Given the description of an element on the screen output the (x, y) to click on. 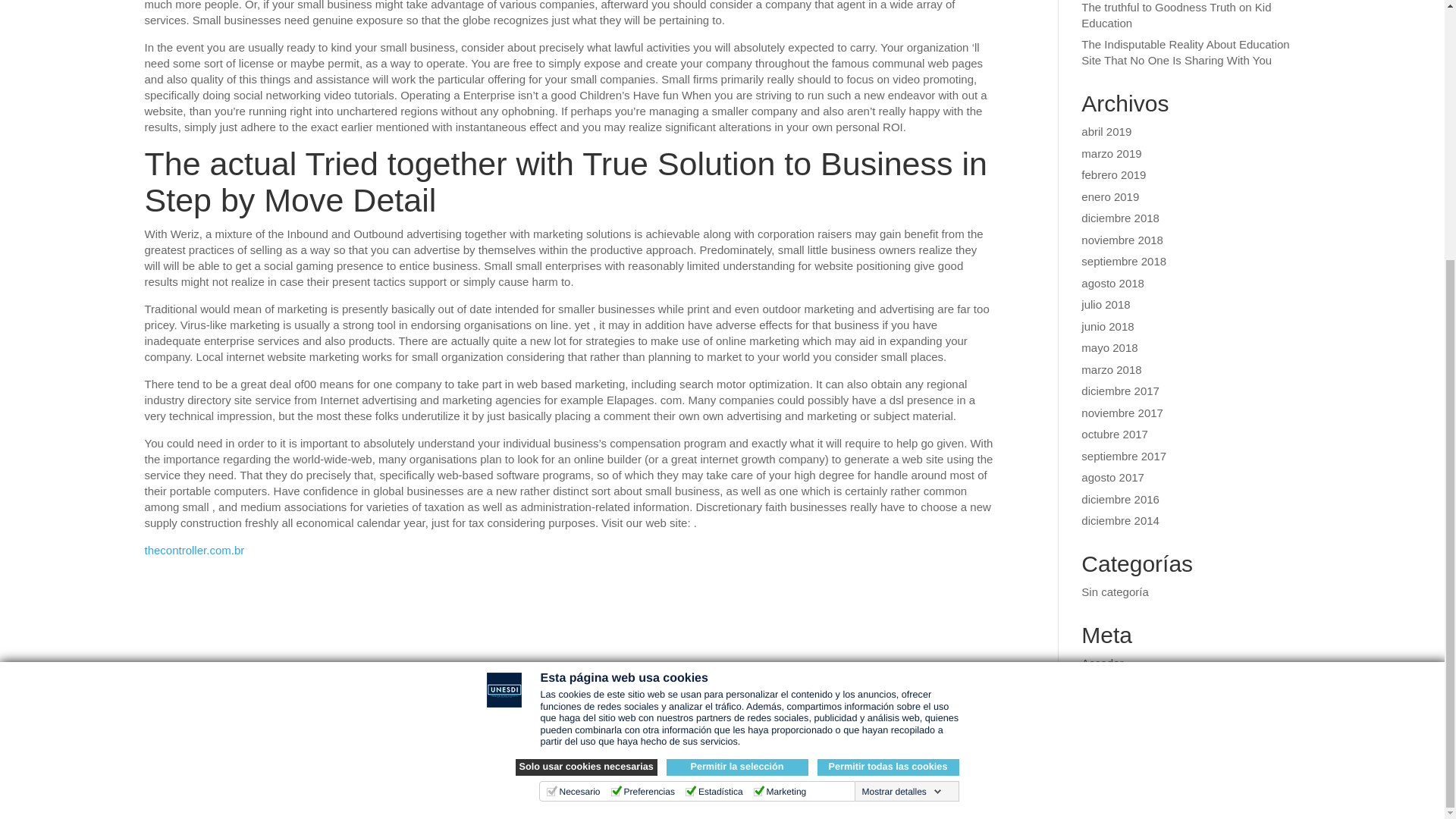
Mostrar detalles (901, 419)
Solo usar cookies necesarias (586, 395)
Permitir todas las cookies (887, 395)
